Given the description of an element on the screen output the (x, y) to click on. 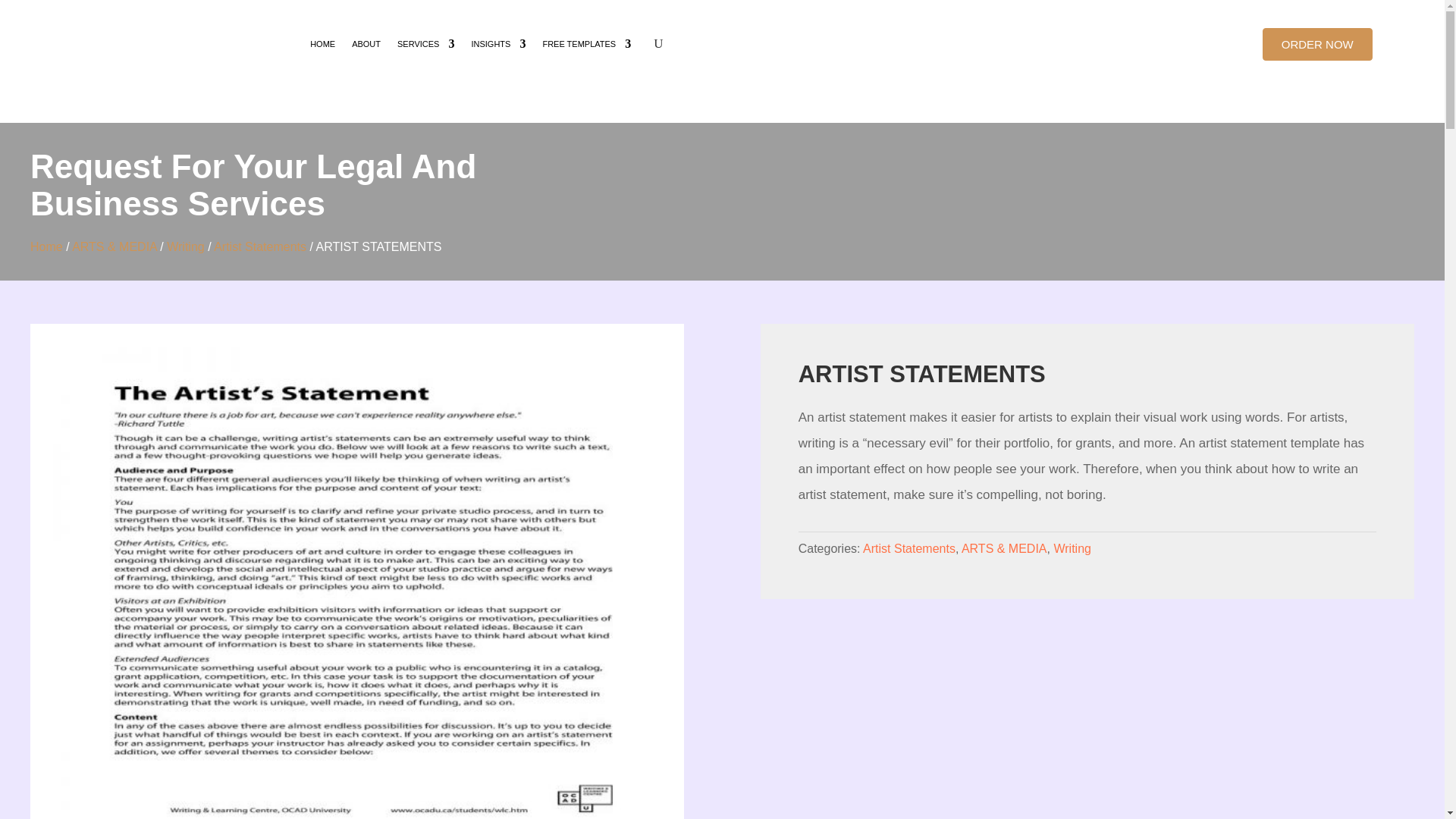
Writing (1071, 548)
Home (46, 246)
Artist Statements (909, 548)
ORDER NOW (1317, 44)
Artist Statements (259, 246)
Writing (186, 246)
FREE TEMPLATES (585, 44)
